Given the description of an element on the screen output the (x, y) to click on. 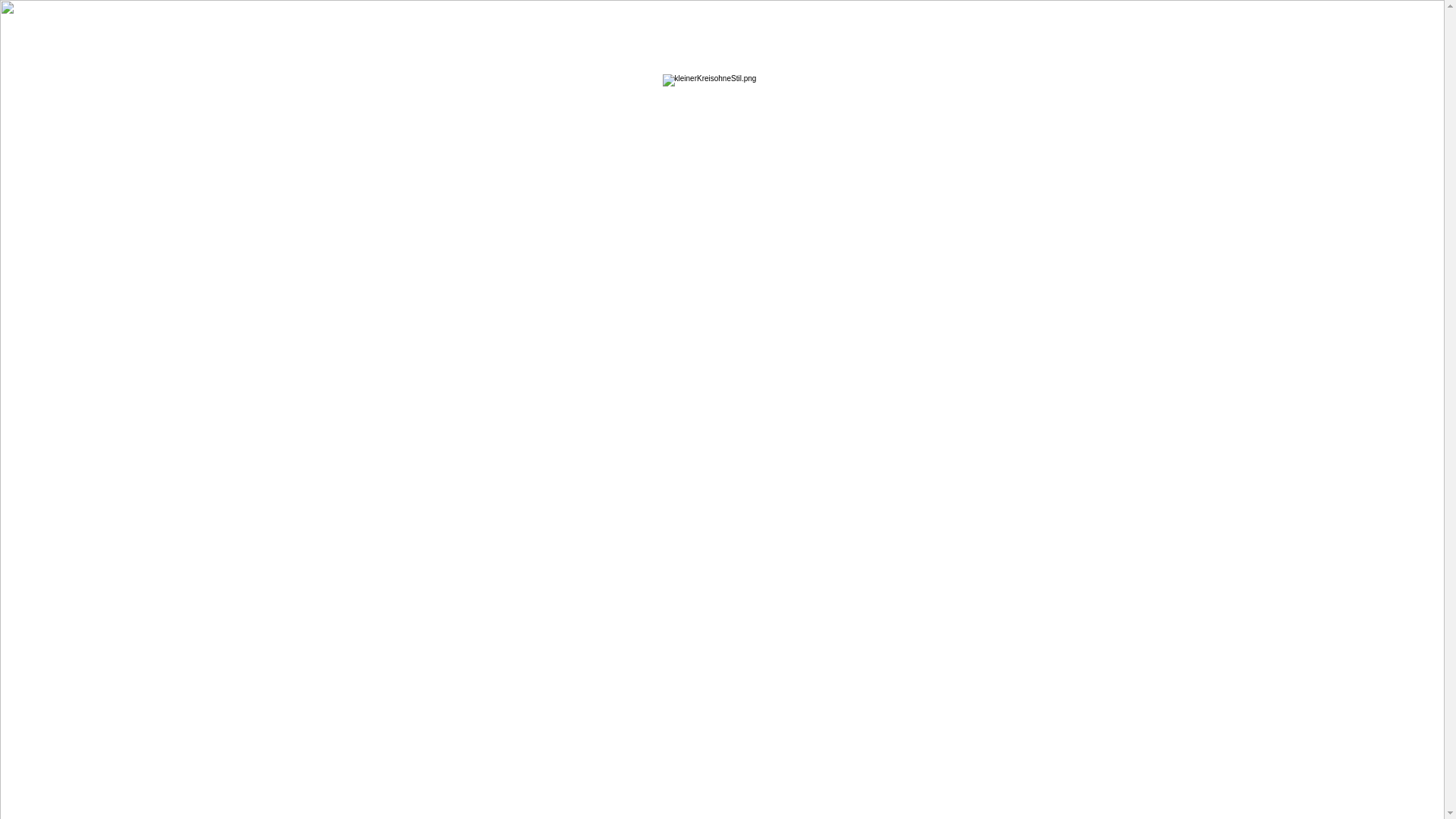
Willkommen Element type: text (721, 320)
